Given the description of an element on the screen output the (x, y) to click on. 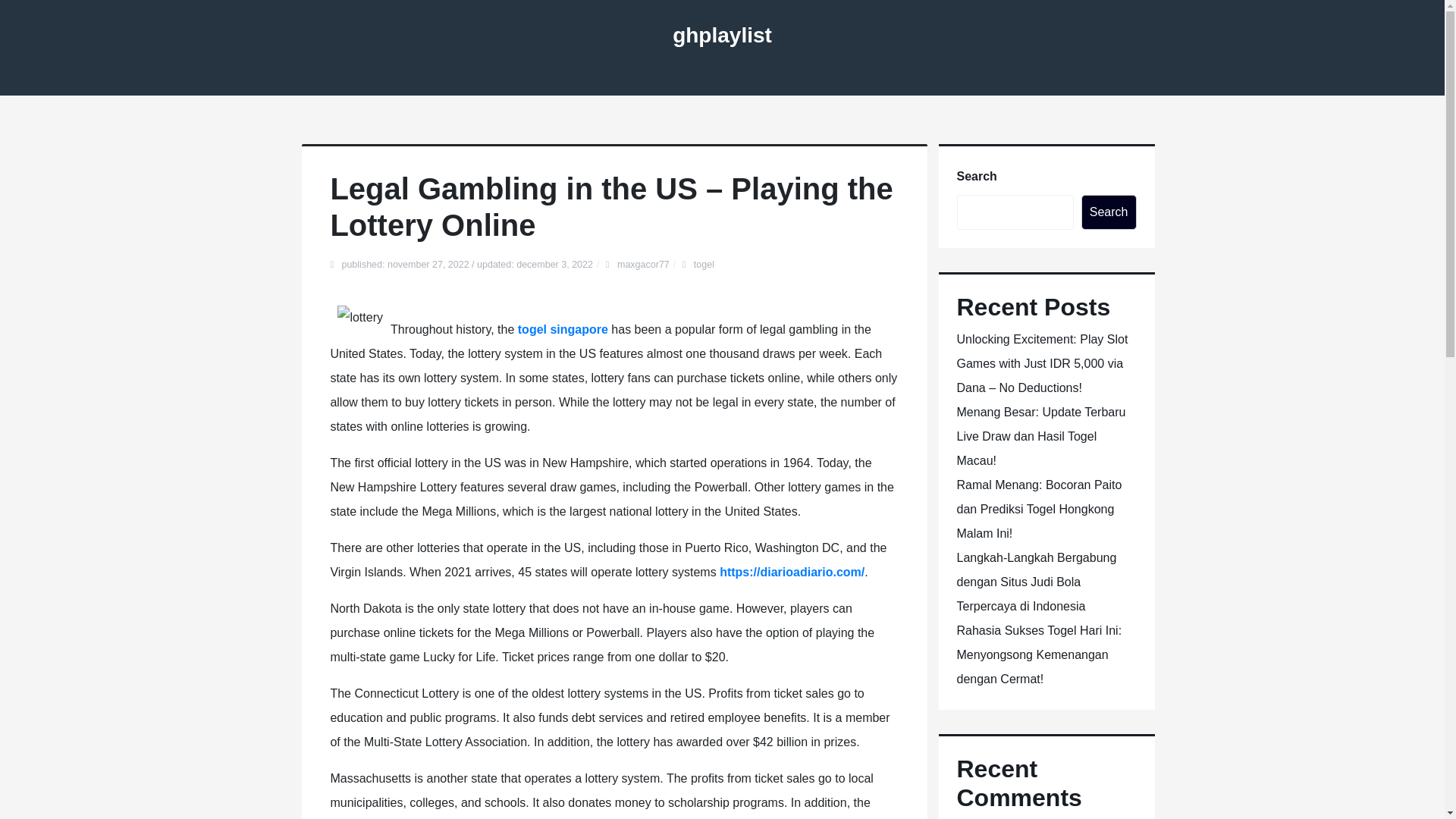
togel singapore (563, 328)
togel (704, 264)
ghplaylist (721, 34)
Search (1109, 212)
maxgacor77 (643, 264)
